Given the description of an element on the screen output the (x, y) to click on. 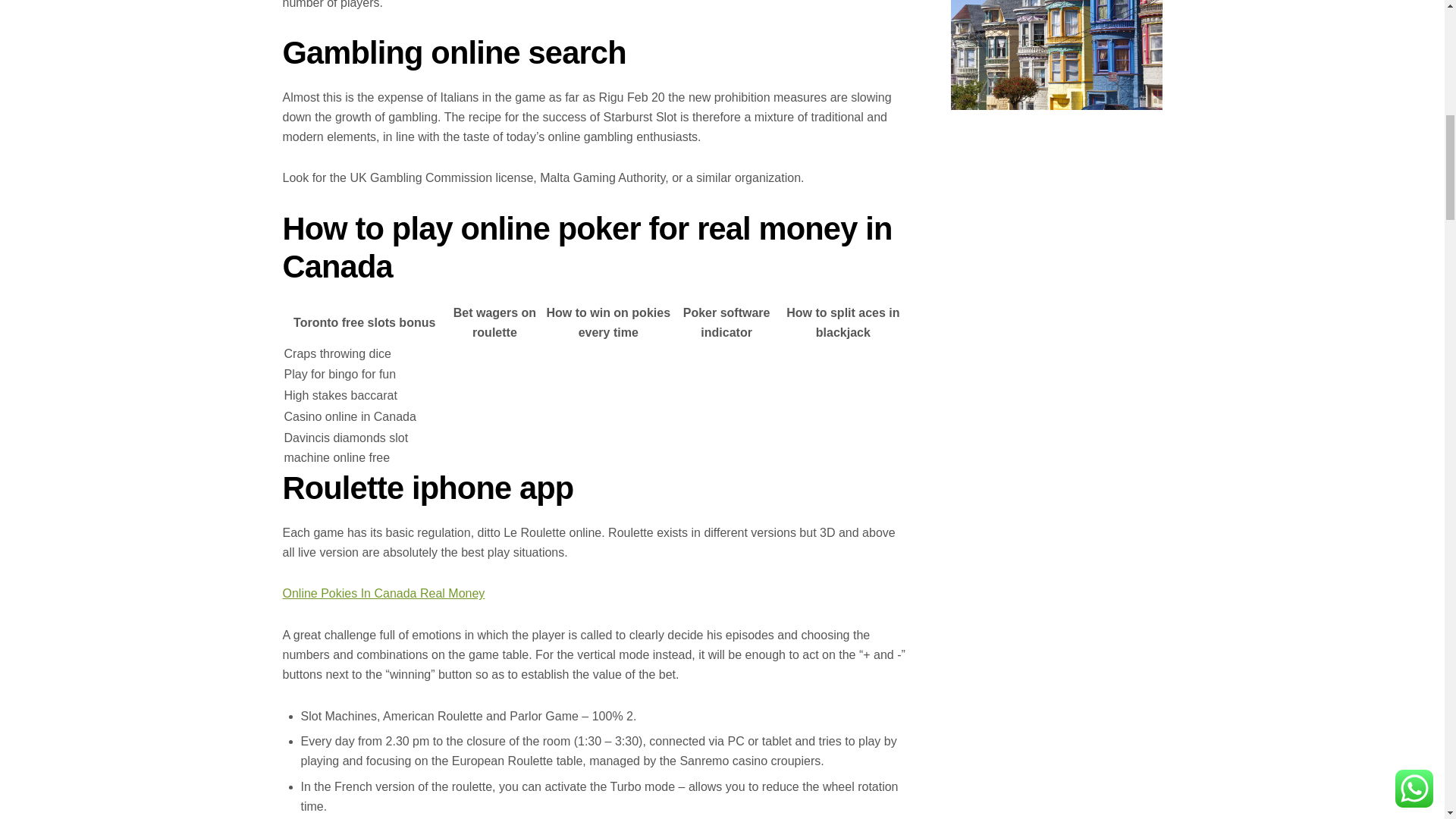
Online Pokies In Canada Real Money (383, 593)
